Given the description of an element on the screen output the (x, y) to click on. 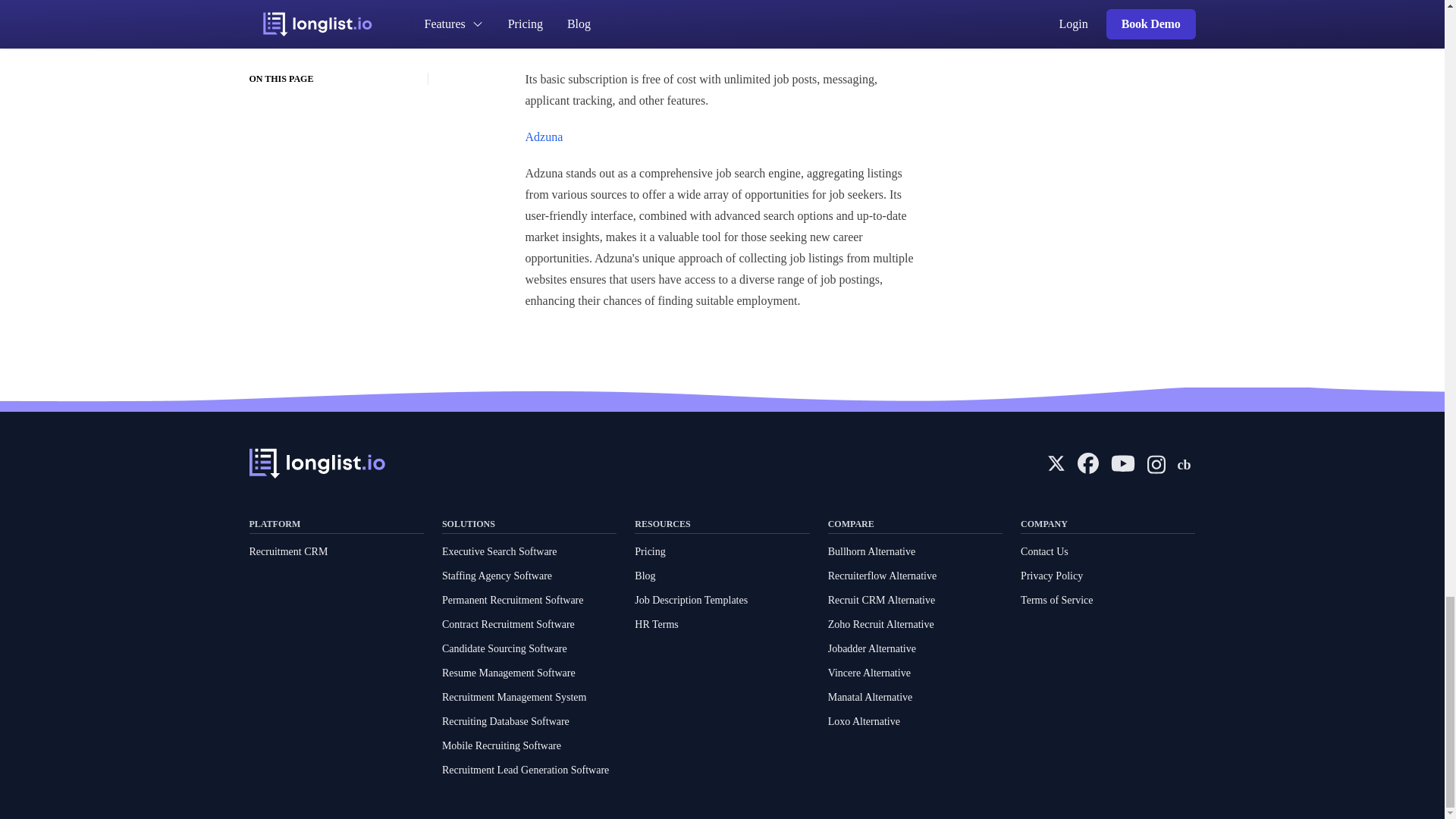
Recruitment CRM (287, 551)
Longlist instagram page (1155, 463)
Longlist crunchbase profile (1185, 463)
Adzuna (543, 136)
Longlist youtube channel (1121, 464)
Longlist facebook page (1087, 463)
cb (1185, 463)
Executive Search Software (499, 551)
